Given the description of an element on the screen output the (x, y) to click on. 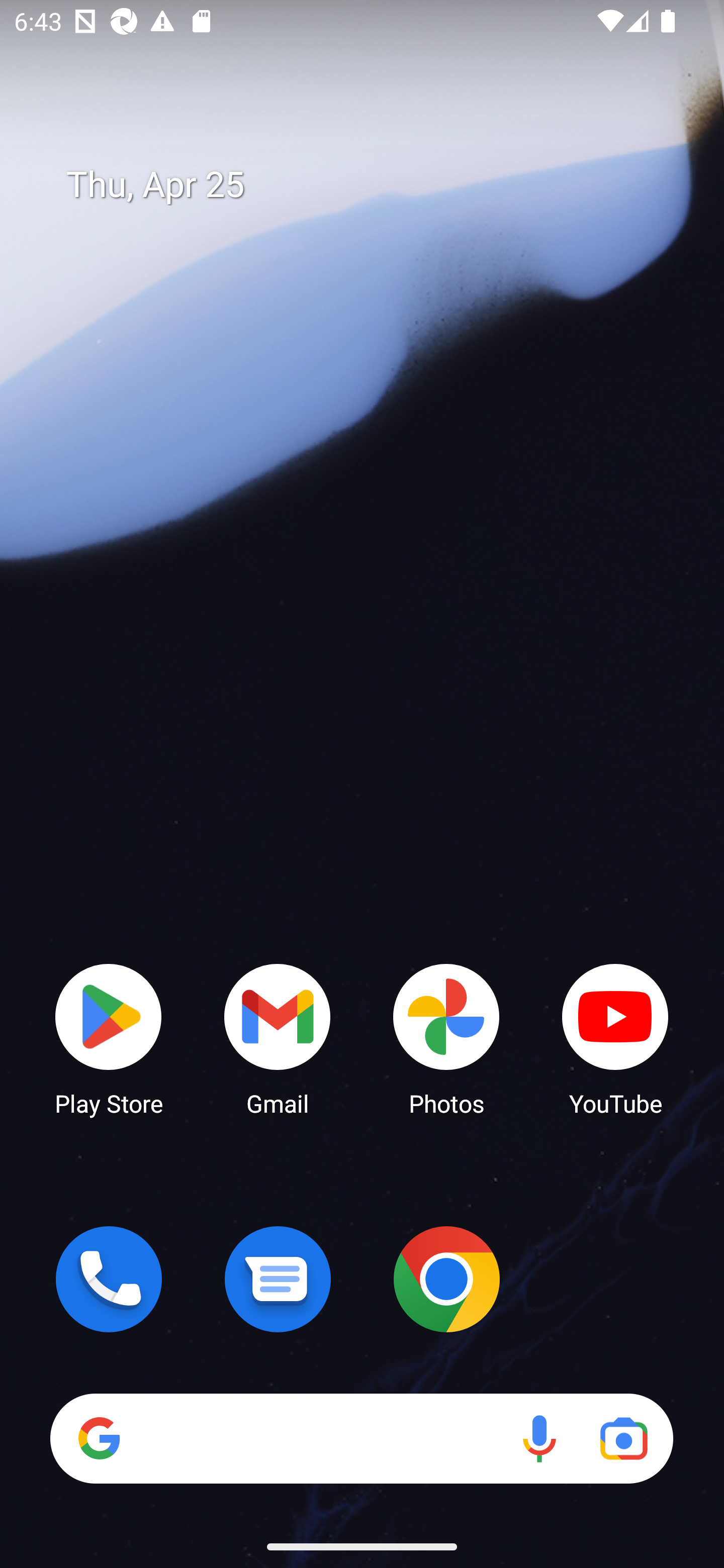
Thu, Apr 25 (375, 184)
Play Store (108, 1038)
Gmail (277, 1038)
Photos (445, 1038)
YouTube (615, 1038)
Phone (108, 1279)
Messages (277, 1279)
Chrome (446, 1279)
Search Voice search Google Lens (361, 1438)
Voice search (539, 1438)
Google Lens (623, 1438)
